Given the description of an element on the screen output the (x, y) to click on. 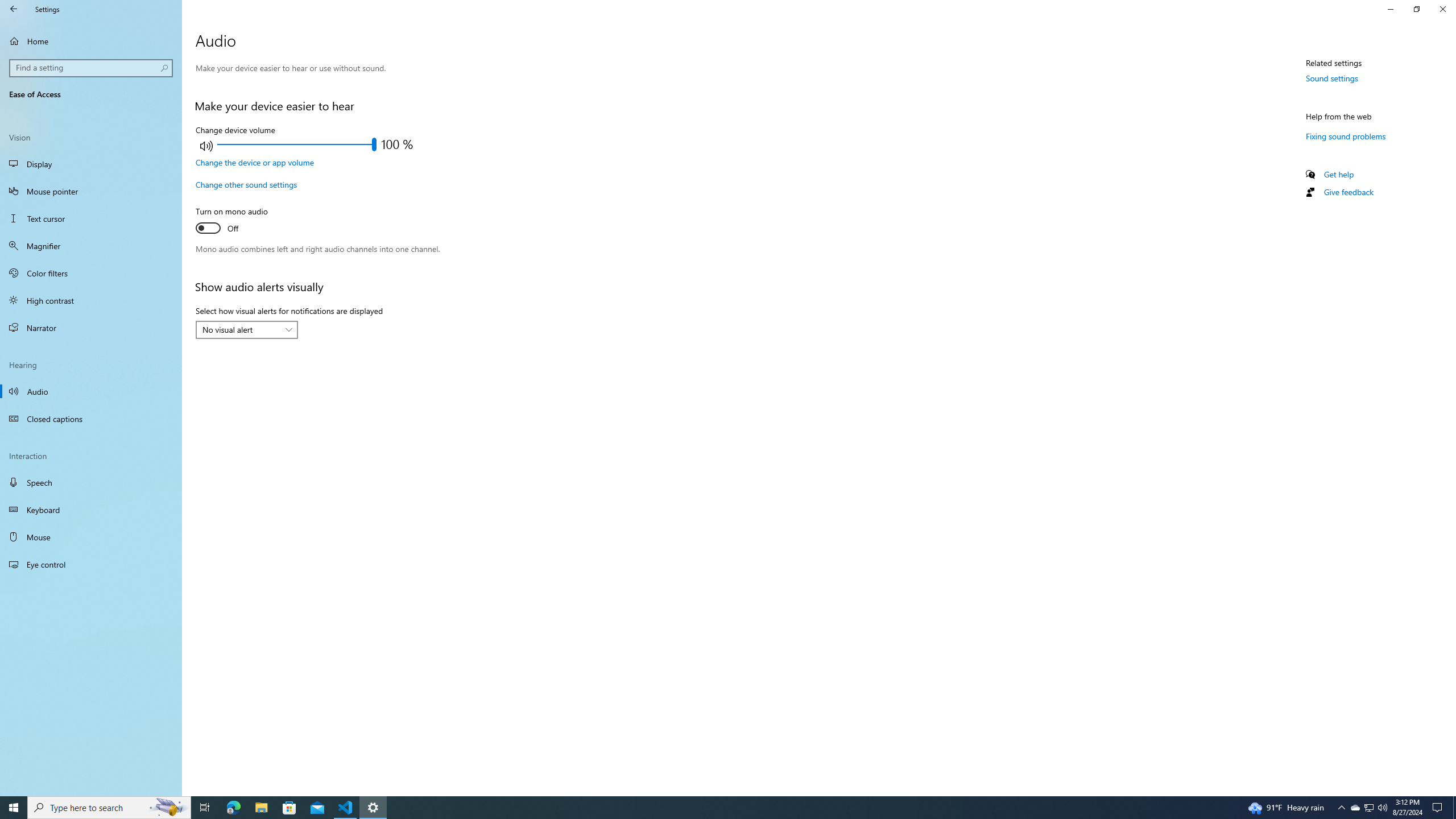
Running applications (717, 807)
Audio (91, 390)
Speech (91, 482)
Change the device or app volume (254, 162)
Change device volume (296, 144)
Closed captions (91, 418)
Magnifier (91, 245)
Eye control (91, 564)
Sound settings (1332, 77)
